Given the description of an element on the screen output the (x, y) to click on. 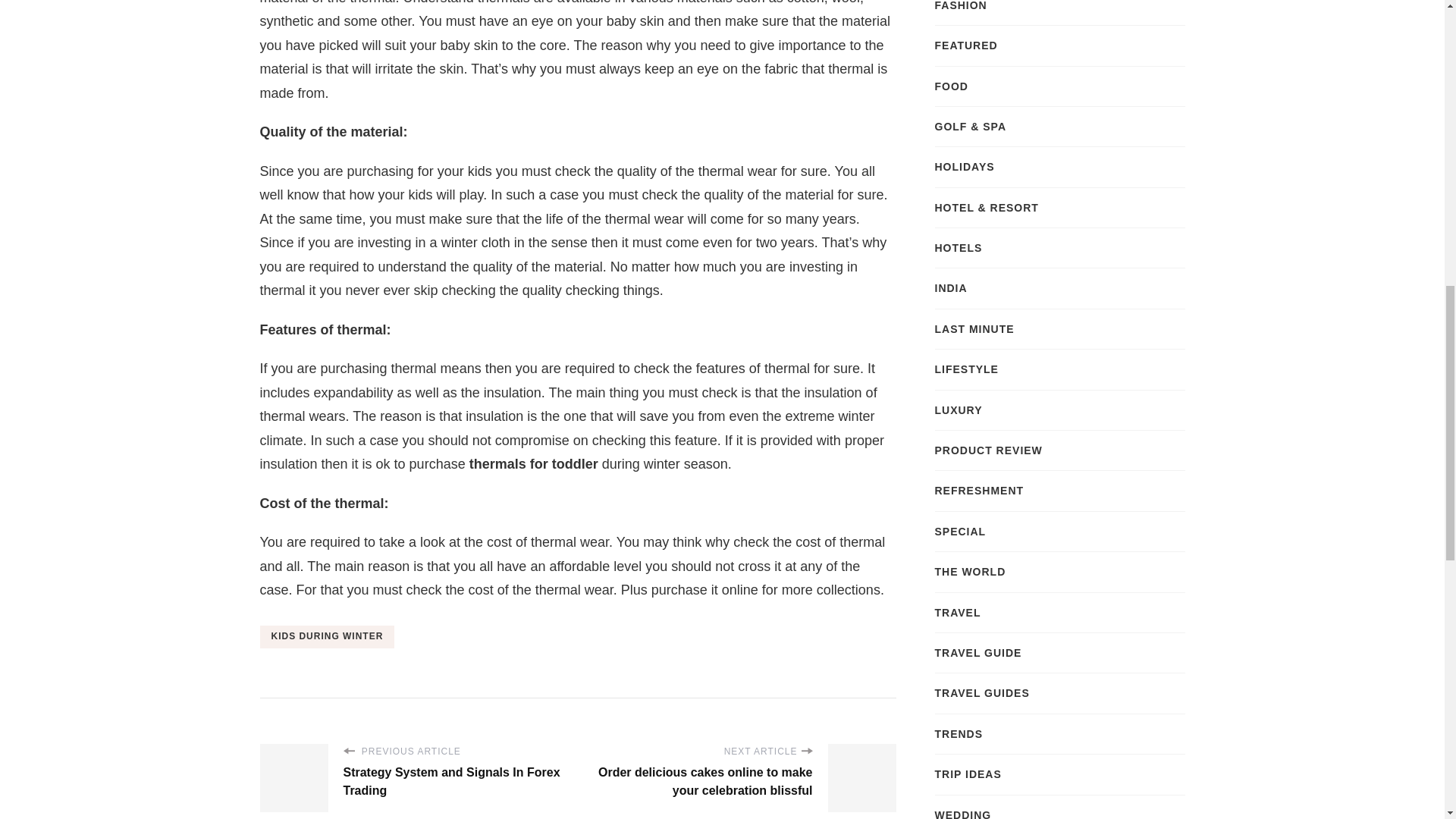
KIDS DURING WINTER (326, 636)
